Given the description of an element on the screen output the (x, y) to click on. 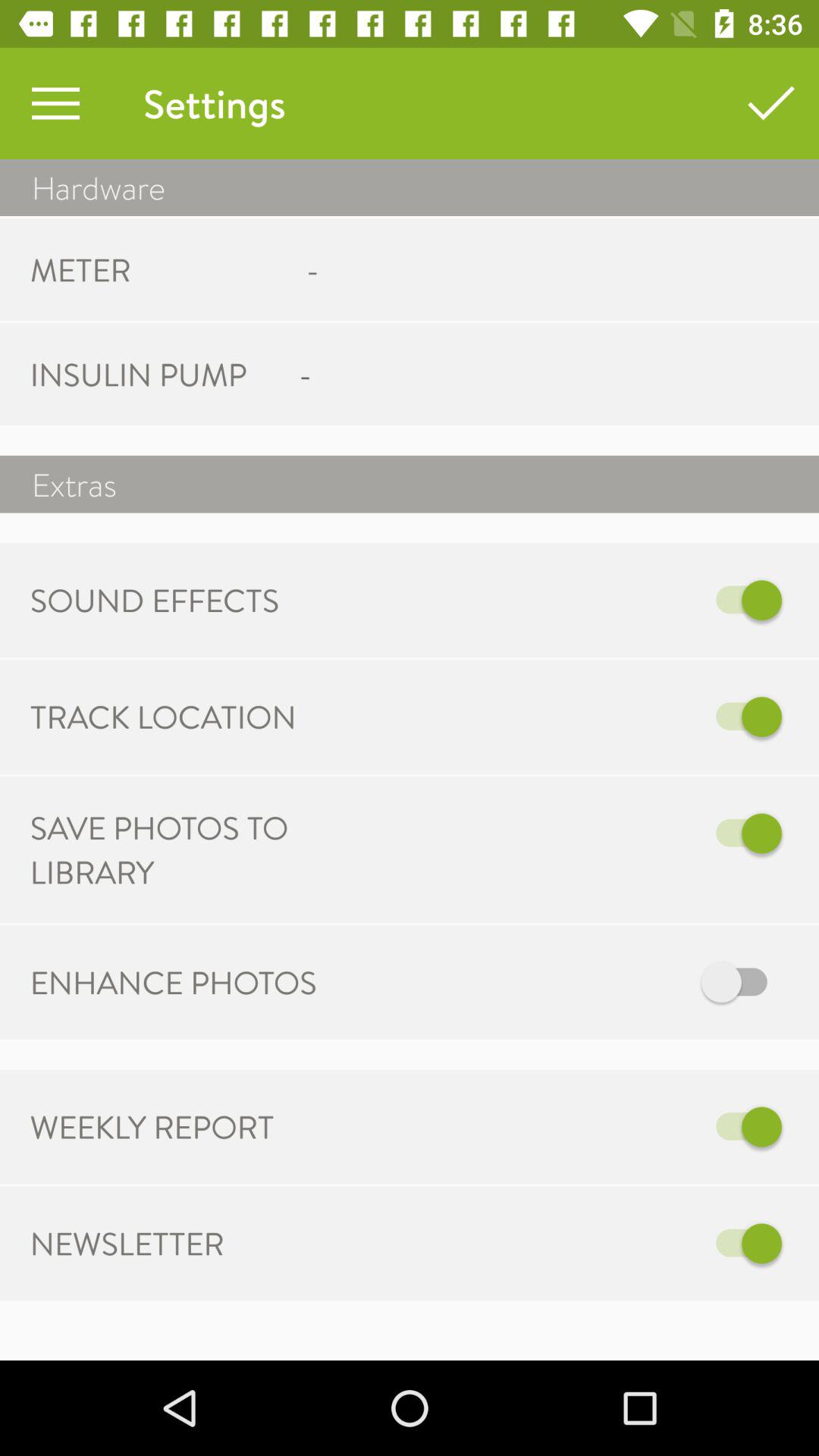
switch photo library option (566, 833)
